Given the description of an element on the screen output the (x, y) to click on. 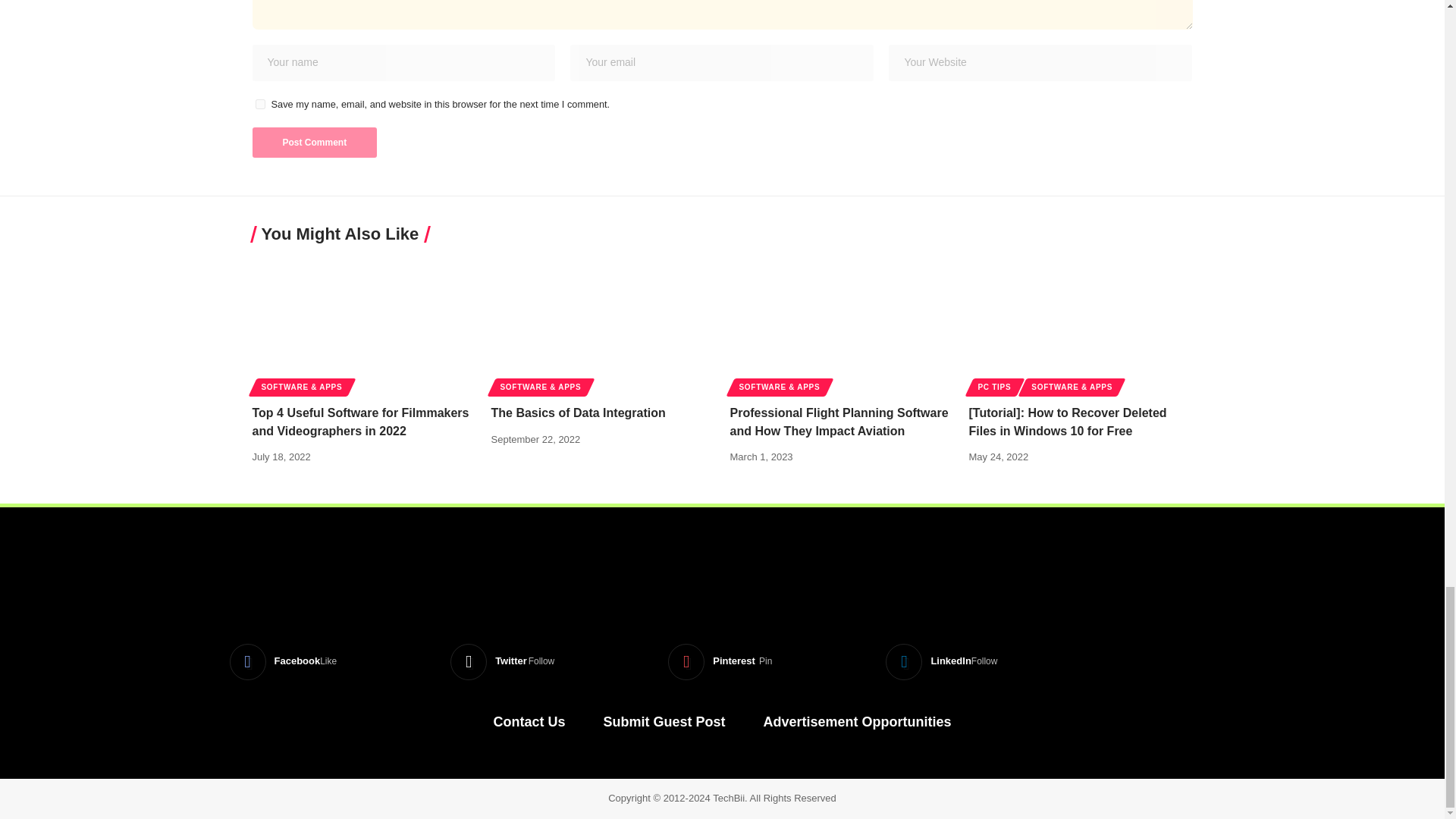
The Basics of Data Integration (603, 324)
yes (259, 103)
Post Comment (314, 142)
